Given the description of an element on the screen output the (x, y) to click on. 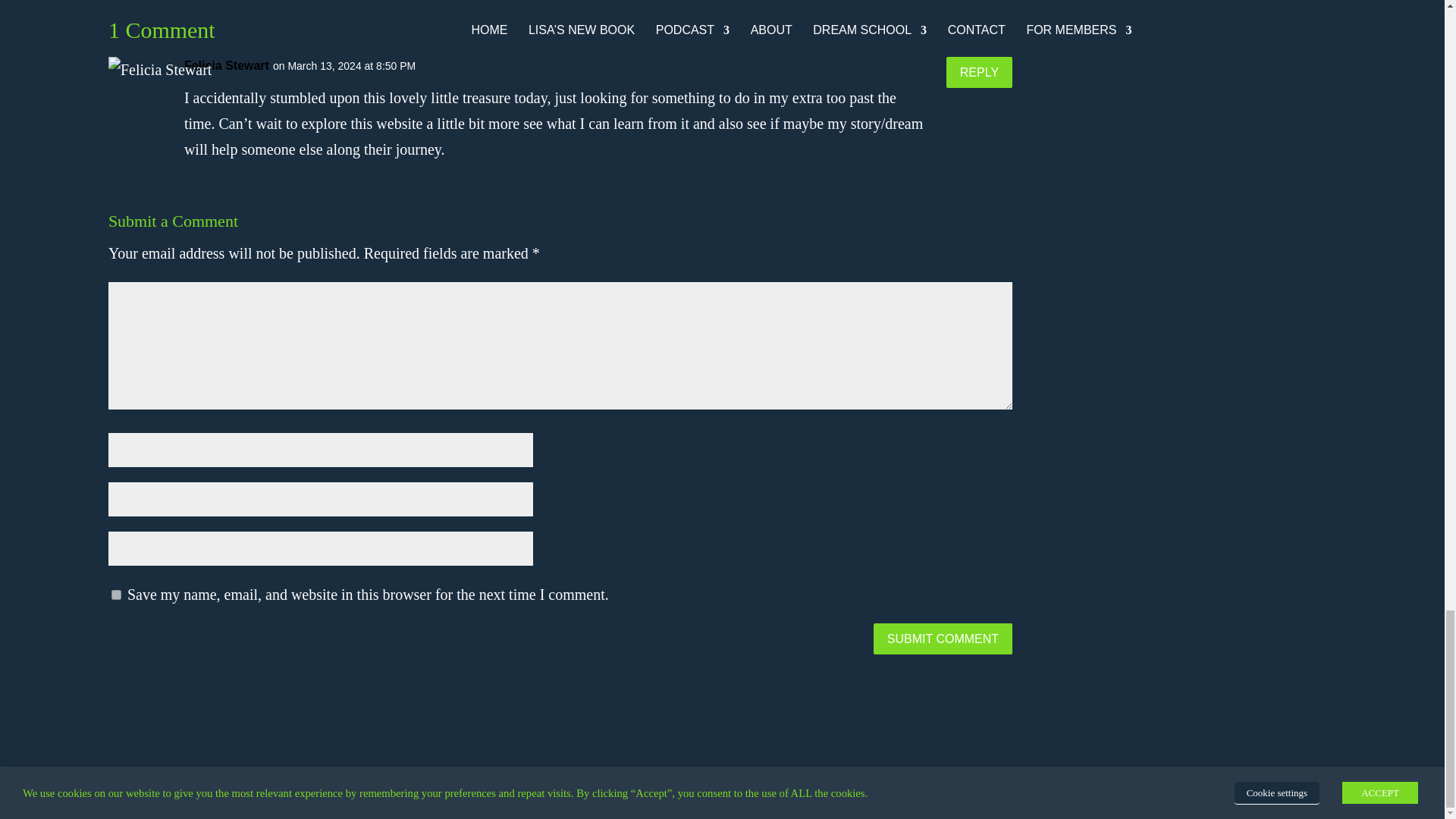
SUBMIT COMMENT (942, 638)
Felicia Stewart (226, 65)
yes (116, 594)
REPLY (978, 71)
